Given the description of an element on the screen output the (x, y) to click on. 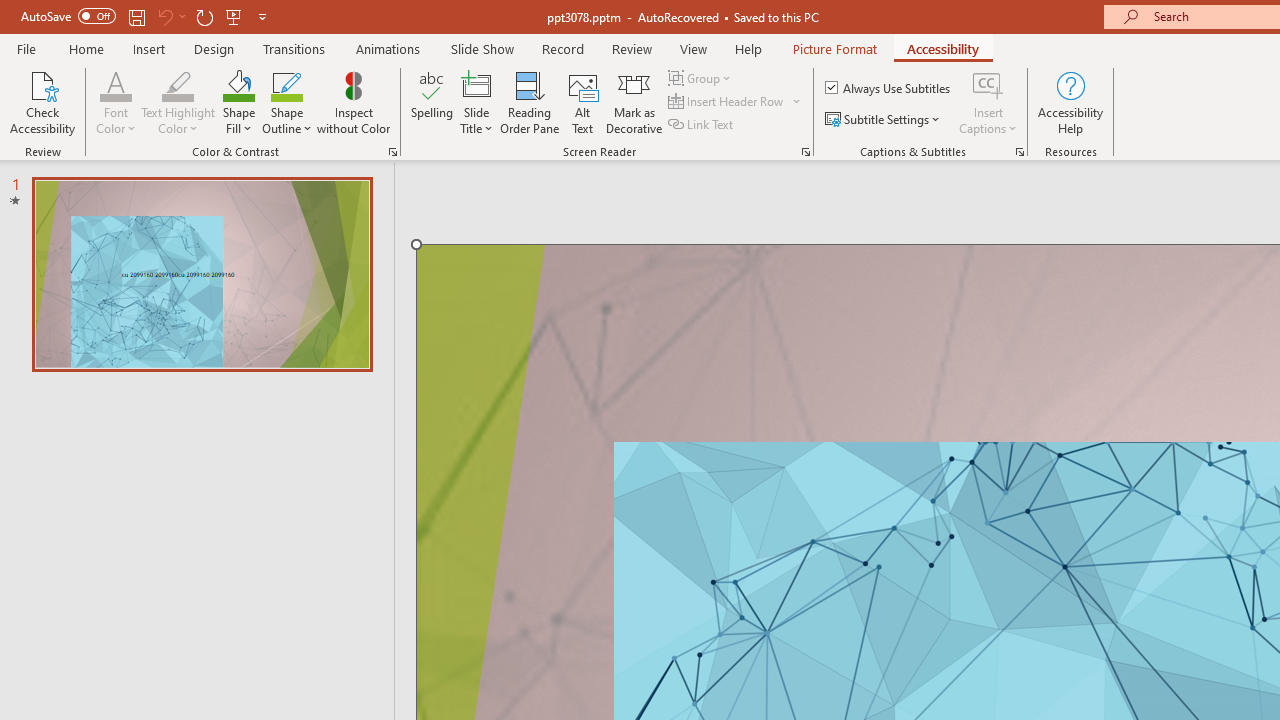
Captions & Subtitles (1019, 151)
Inspect without Color (353, 102)
Reading Order Pane (529, 102)
Screen Reader (805, 151)
